Given the description of an element on the screen output the (x, y) to click on. 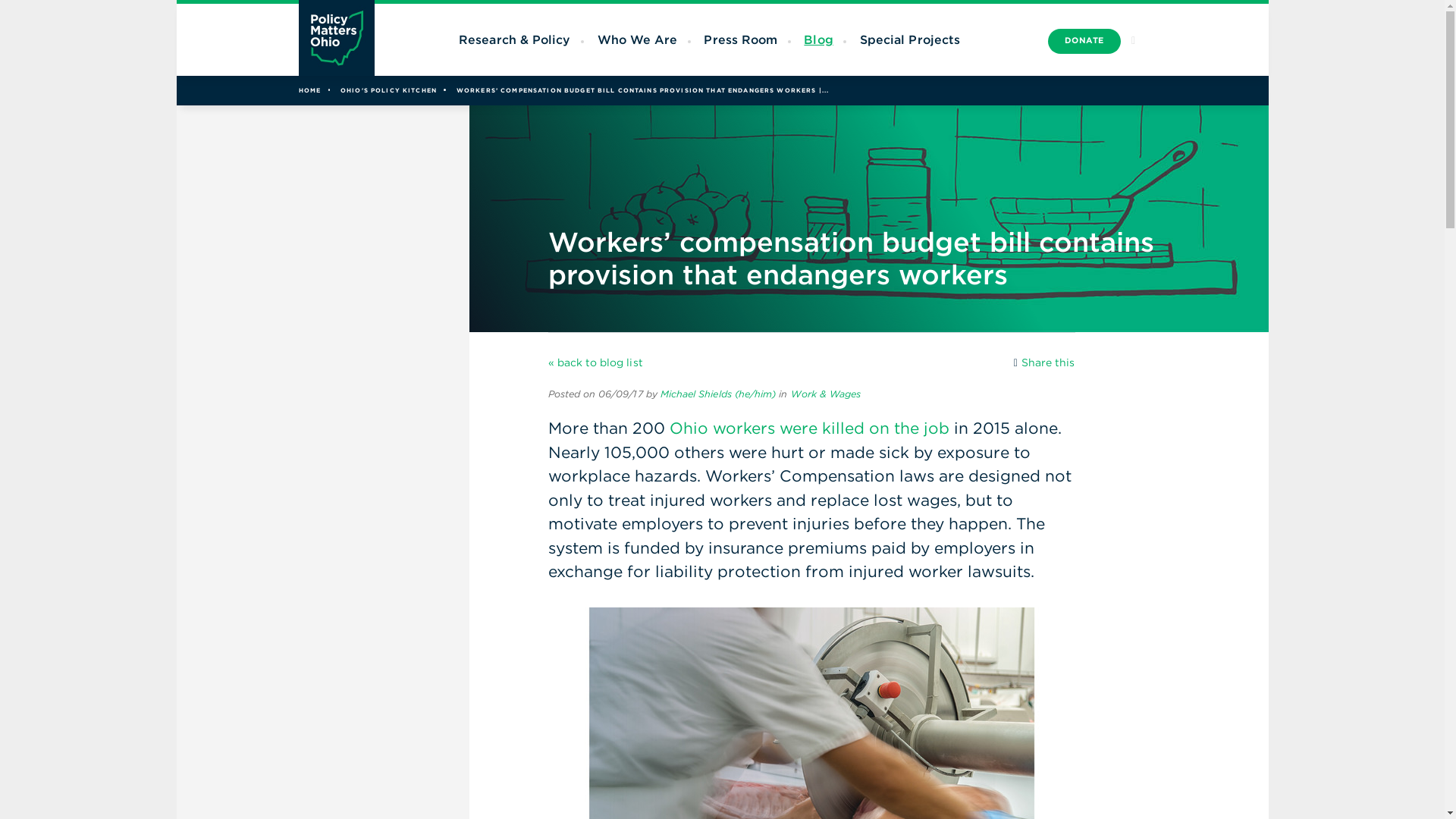
Who We Are (637, 39)
DONATE (1084, 41)
Press Room (740, 39)
Special Projects (909, 39)
Blog (817, 39)
Who We Are (637, 39)
Press Room (740, 39)
